Given the description of an element on the screen output the (x, y) to click on. 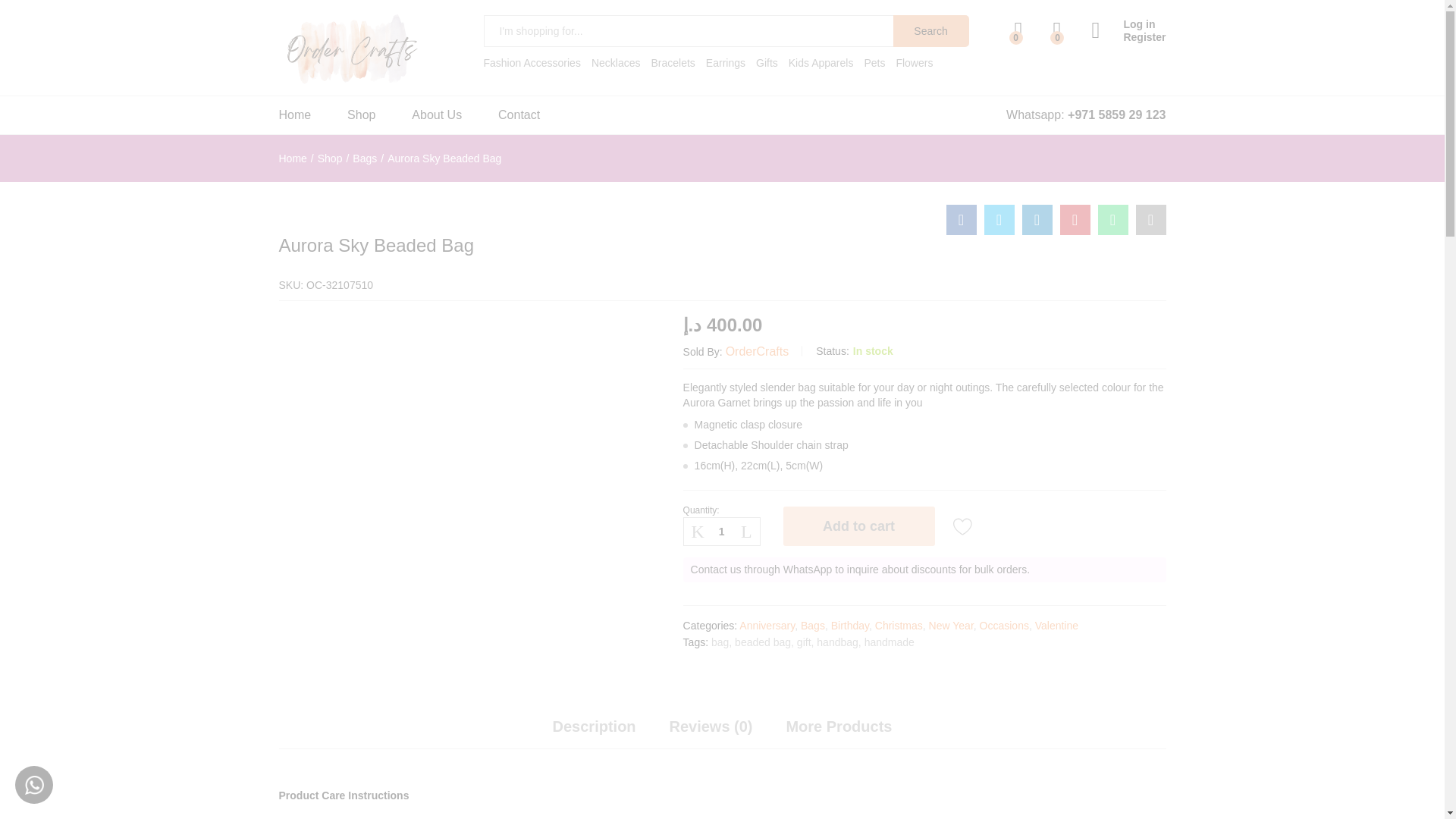
Shop (361, 114)
Contact (518, 114)
Aurora Sky Beaded Bag (1150, 219)
Earrings (725, 62)
Register (1128, 37)
Search (931, 30)
Qty (721, 531)
Log in (1128, 24)
Necklaces (615, 62)
Bracelets (672, 62)
